Given the description of an element on the screen output the (x, y) to click on. 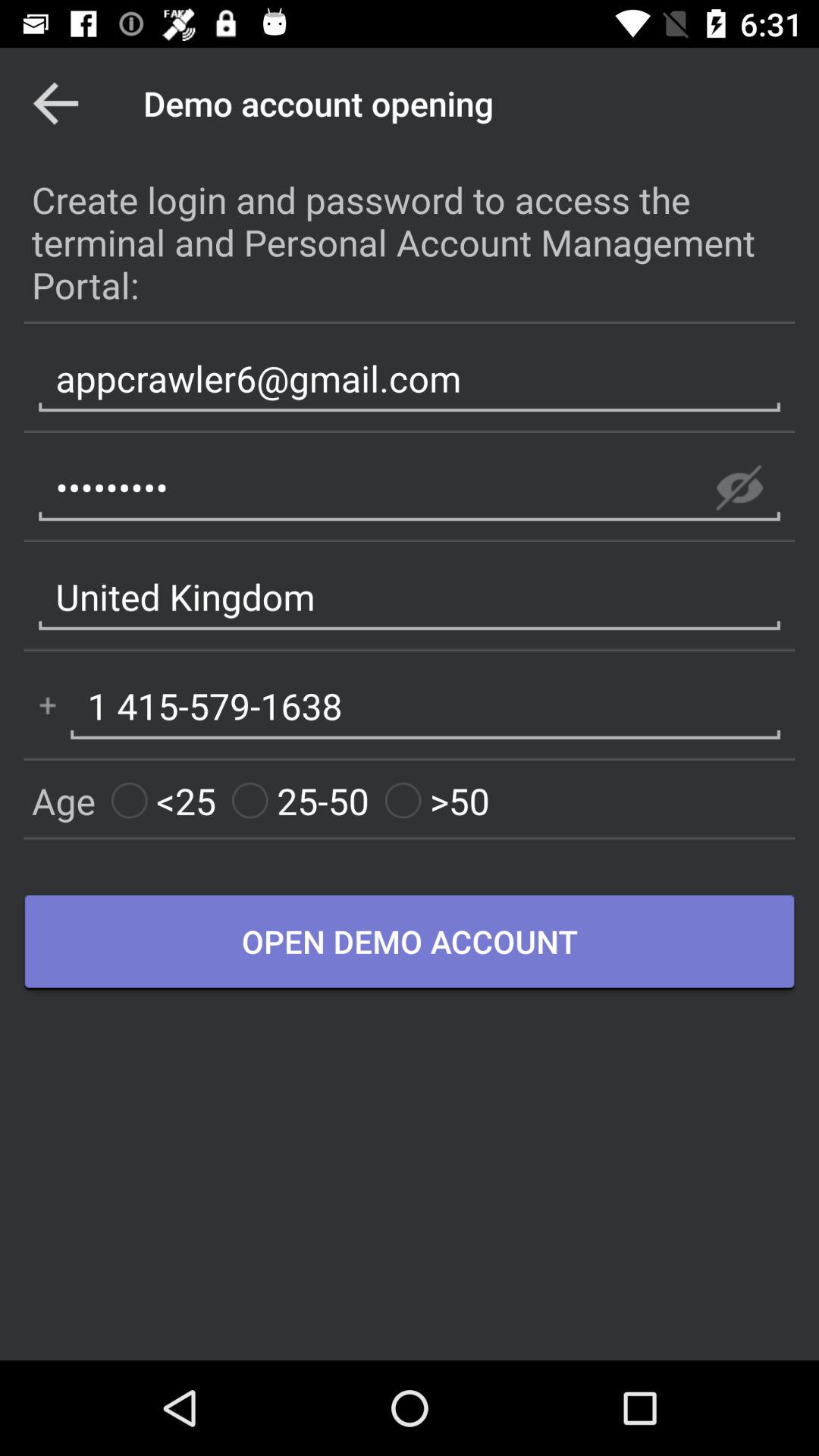
turn on item to the left of the >50 (300, 800)
